Given the description of an element on the screen output the (x, y) to click on. 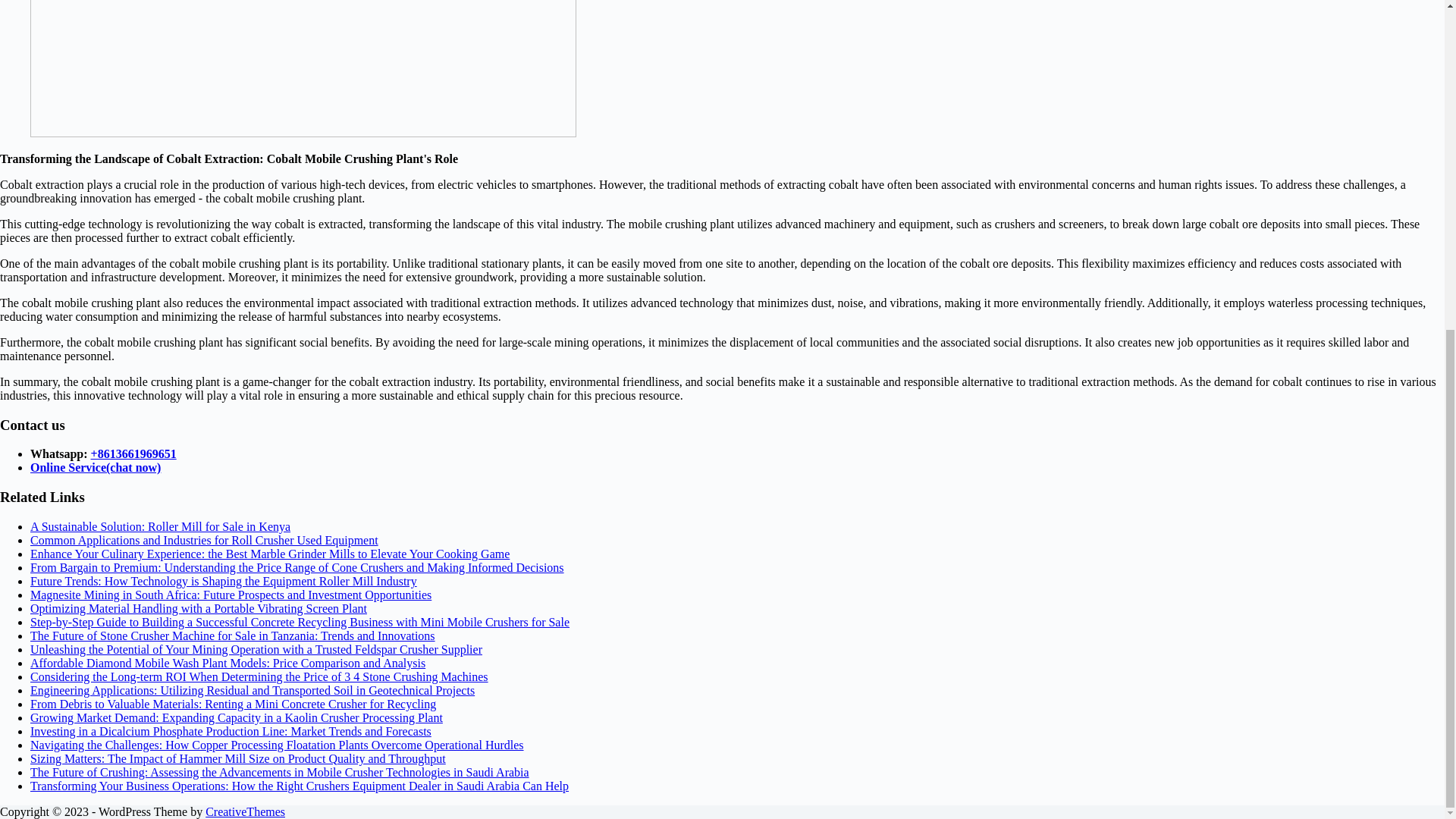
CreativeThemes (245, 811)
A Sustainable Solution: Roller Mill for Sale in Kenya (159, 526)
